Given the description of an element on the screen output the (x, y) to click on. 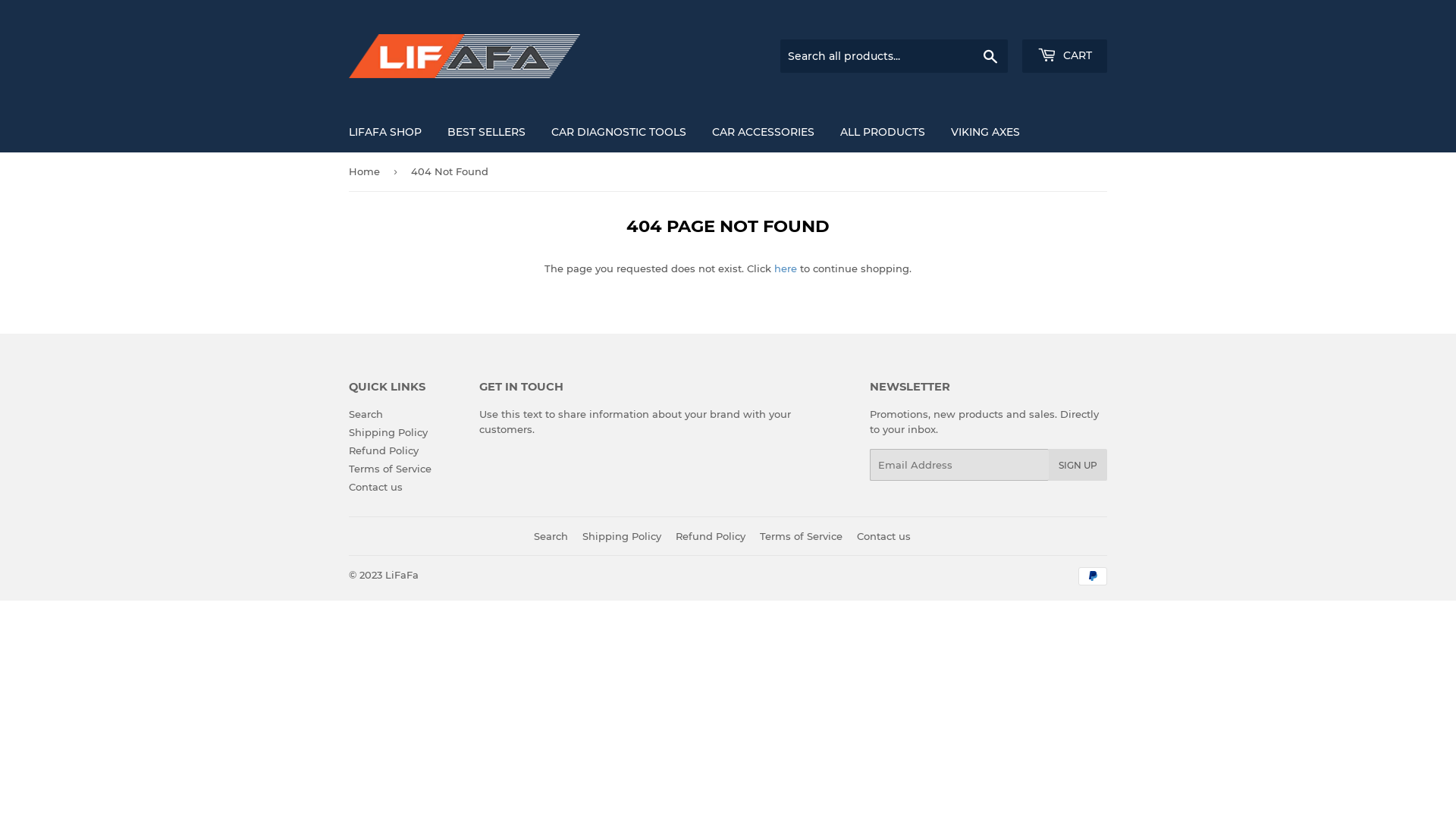
Refund Policy Element type: text (710, 535)
Terms of Service Element type: text (800, 535)
Home Element type: text (366, 171)
CAR ACCESSORIES Element type: text (762, 131)
LIFAFA SHOP Element type: text (385, 131)
SIGN UP Element type: text (1077, 464)
here Element type: text (785, 268)
Search Element type: text (990, 56)
Contact us Element type: text (883, 535)
CART Element type: text (1064, 55)
ALL PRODUCTS Element type: text (882, 131)
Refund Policy Element type: text (383, 450)
Shipping Policy Element type: text (621, 535)
Shipping Policy Element type: text (387, 432)
VIKING AXES Element type: text (985, 131)
LiFaFa Element type: text (401, 574)
BEST SELLERS Element type: text (486, 131)
Search Element type: text (550, 535)
Search Element type: text (365, 413)
CAR DIAGNOSTIC TOOLS Element type: text (618, 131)
Terms of Service Element type: text (389, 468)
Contact us Element type: text (375, 486)
